Given the description of an element on the screen output the (x, y) to click on. 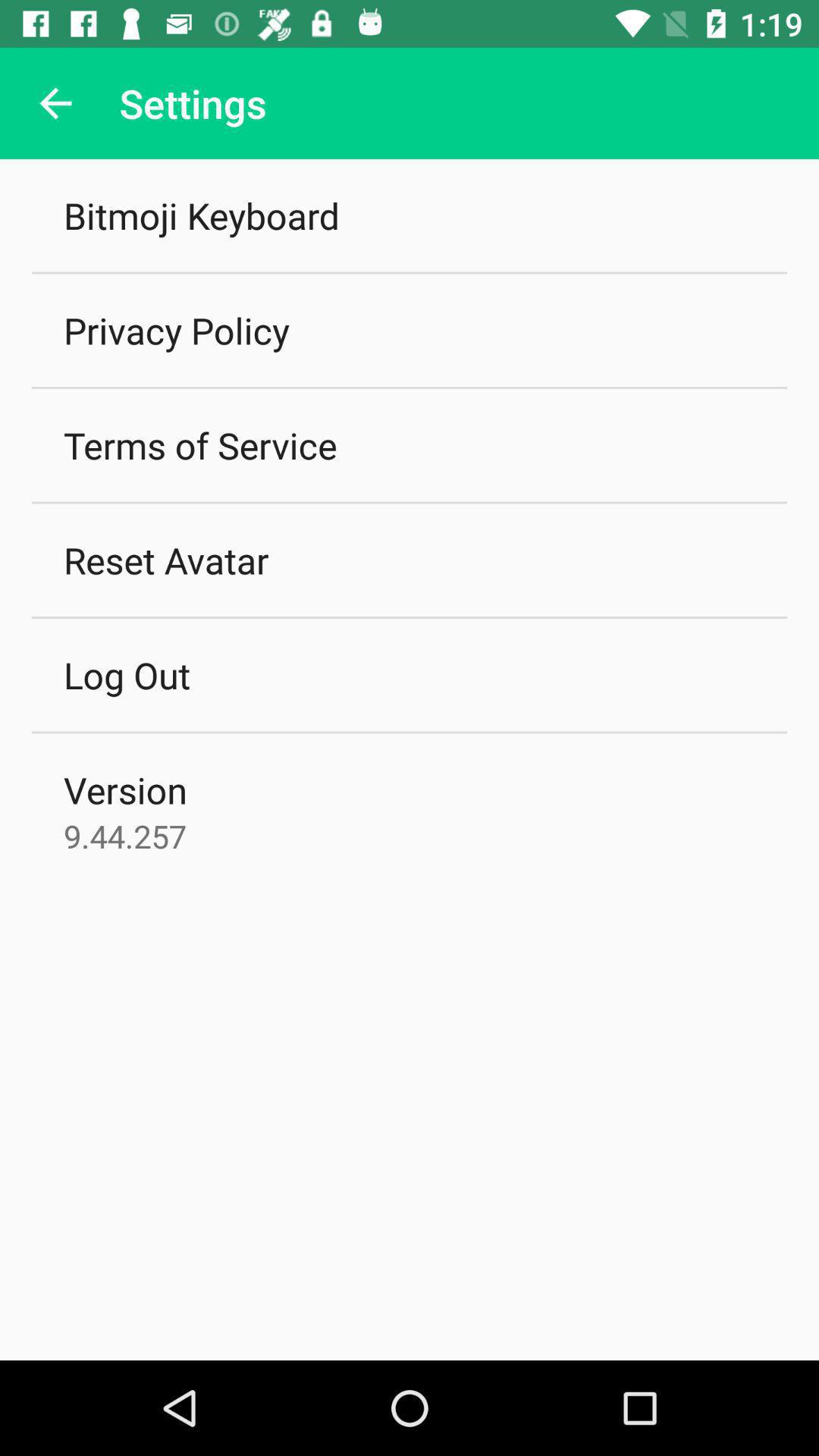
turn on the item above 9.44.257 item (125, 789)
